Given the description of an element on the screen output the (x, y) to click on. 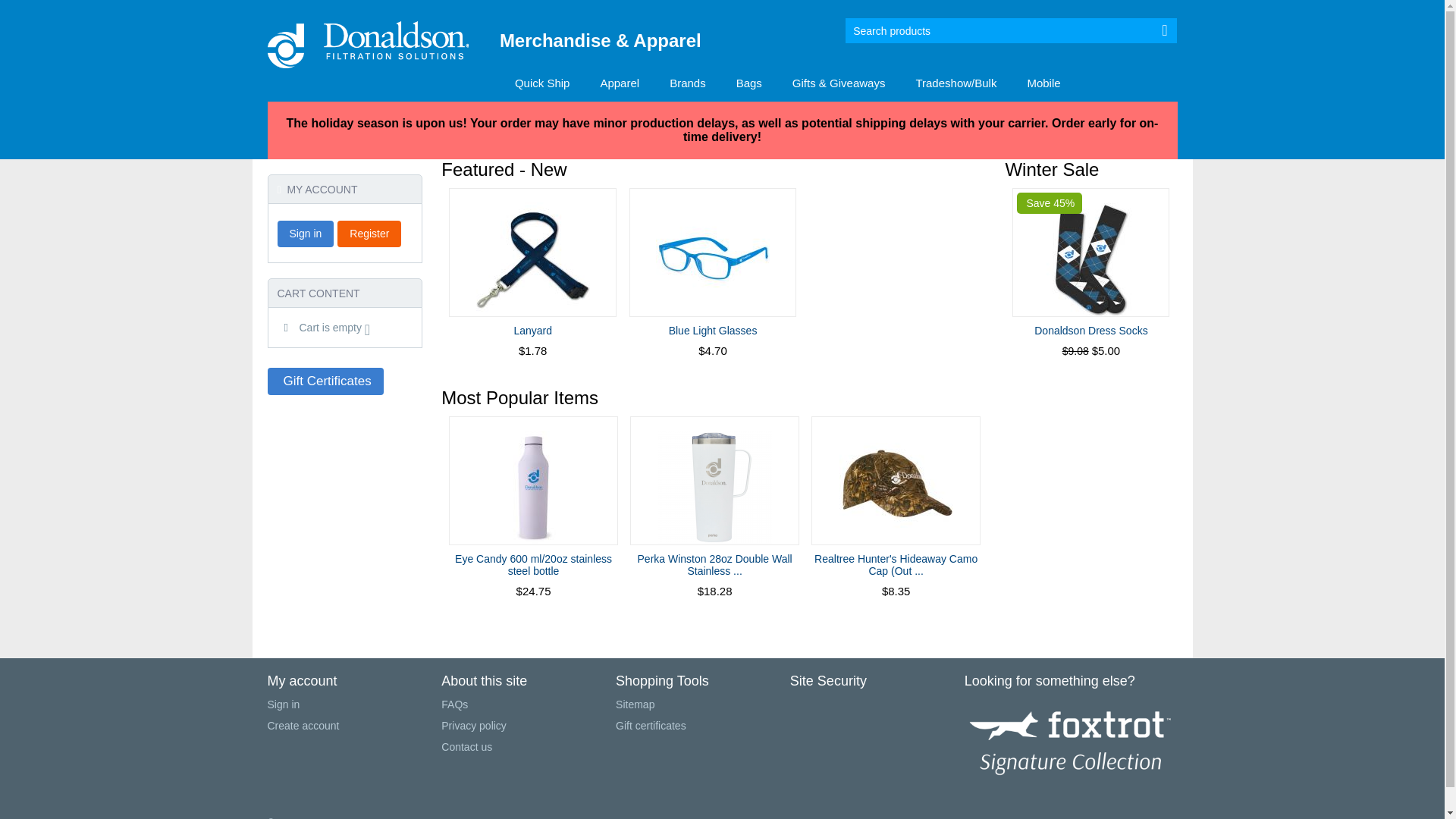
Search products Element type: hover (1010, 30)
Perka Winston 28oz Double Wall Stainless ... Element type: text (714, 564)
Eye Candy 600 ml/20oz stainless steel bottle Element type: text (533, 564)
FAQs Element type: text (454, 704)
Donaldson Dress Socks Element type: text (1090, 330)
Privacy policy Element type: text (473, 725)
Apparel Element type: text (619, 83)
Gift Certificates Element type: text (324, 381)
Realtree Hunter's Hideaway Camo Cap (Out ... Element type: text (895, 564)
Gifts & Giveaways Element type: text (838, 83)
Register Element type: text (369, 233)
Bags Element type: text (749, 83)
Quick Ship Element type: text (542, 83)
Sign in Element type: text (282, 704)
Lanyard Element type: text (532, 330)
Sign in Element type: text (305, 233)
Contact us Element type: text (466, 746)
Sitemap Element type: text (634, 704)
Tradeshow/Bulk Element type: text (955, 83)
  MY ACCOUNT Element type: text (317, 189)
Cart is empty Element type: text (326, 327)
Gift certificates Element type: text (650, 725)
Brands Element type: text (687, 83)
Blue Light Glasses Element type: text (712, 330)
Mobile Element type: text (1043, 83)
Search Element type: hover (1163, 30)
Create account Element type: text (302, 725)
